Given the description of an element on the screen output the (x, y) to click on. 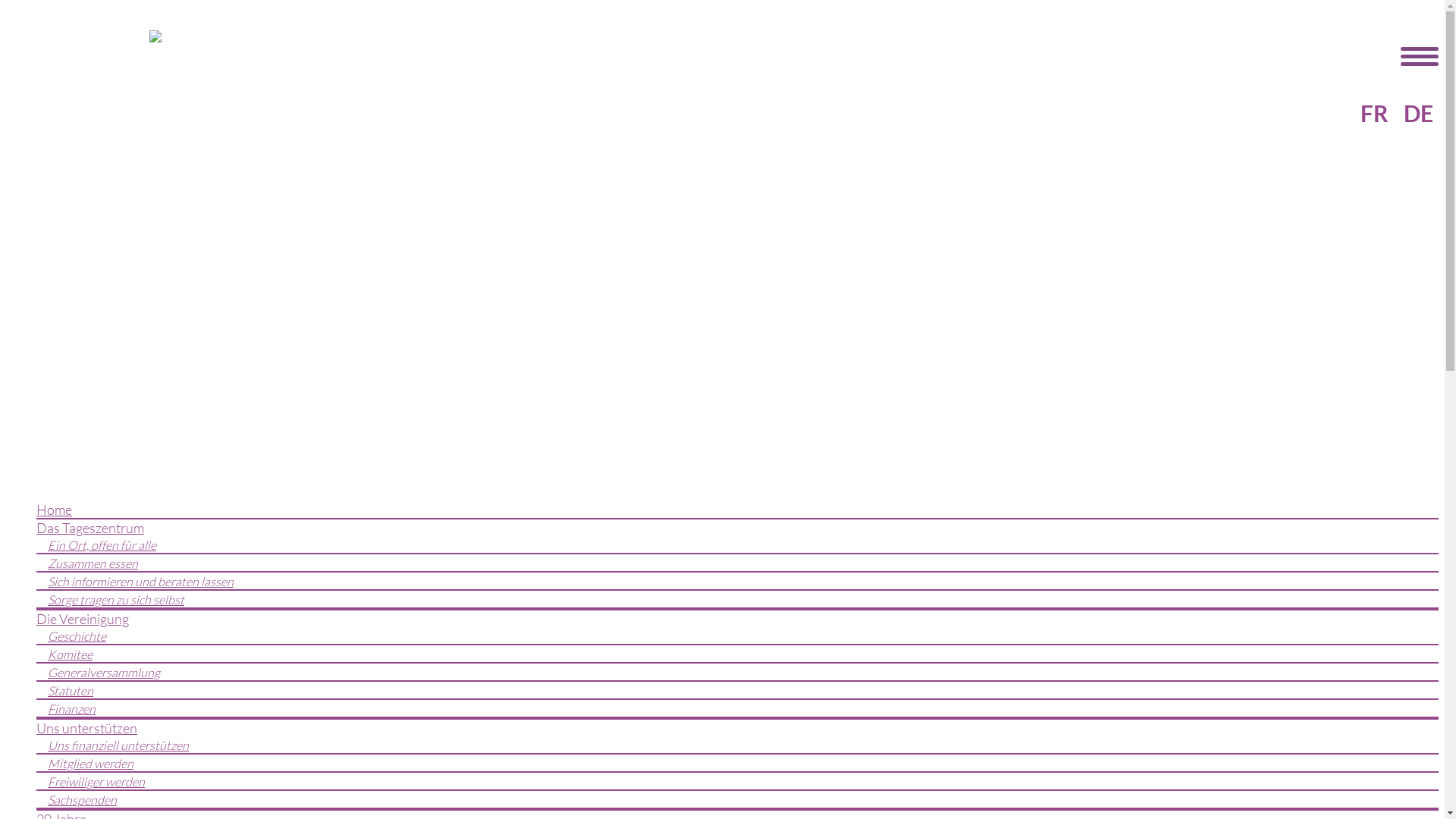
Mitglied werden Element type: text (90, 763)
Komitee Element type: text (69, 654)
Freiwiliger werden Element type: text (96, 781)
Skip to content Element type: text (5, 500)
Home Element type: text (54, 509)
Geschichte Element type: text (76, 636)
Sorge tragen zu sich selbst Element type: text (115, 599)
DE Element type: text (1414, 111)
Sich informieren und beraten lassen Element type: text (140, 581)
Statuten Element type: text (70, 690)
Sachspenden Element type: text (82, 799)
Generalversammlung Element type: text (103, 672)
Das Tageszentrum Element type: text (90, 527)
Finanzen Element type: text (71, 708)
Die Vereinigung Element type: text (82, 618)
Zusammen essen Element type: text (92, 563)
FR Element type: text (1374, 111)
